Given the description of an element on the screen output the (x, y) to click on. 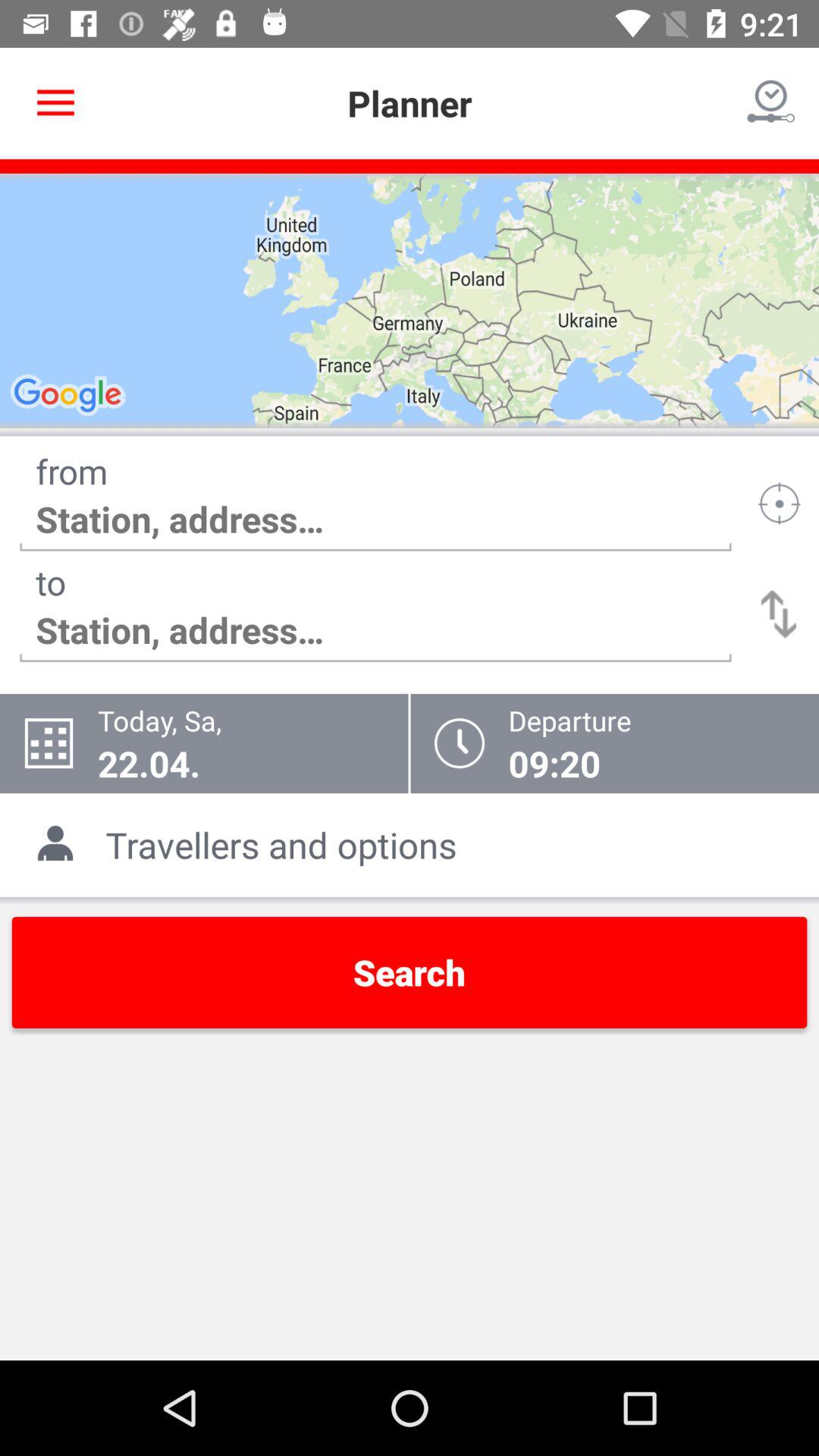
open the search icon (409, 972)
